Given the description of an element on the screen output the (x, y) to click on. 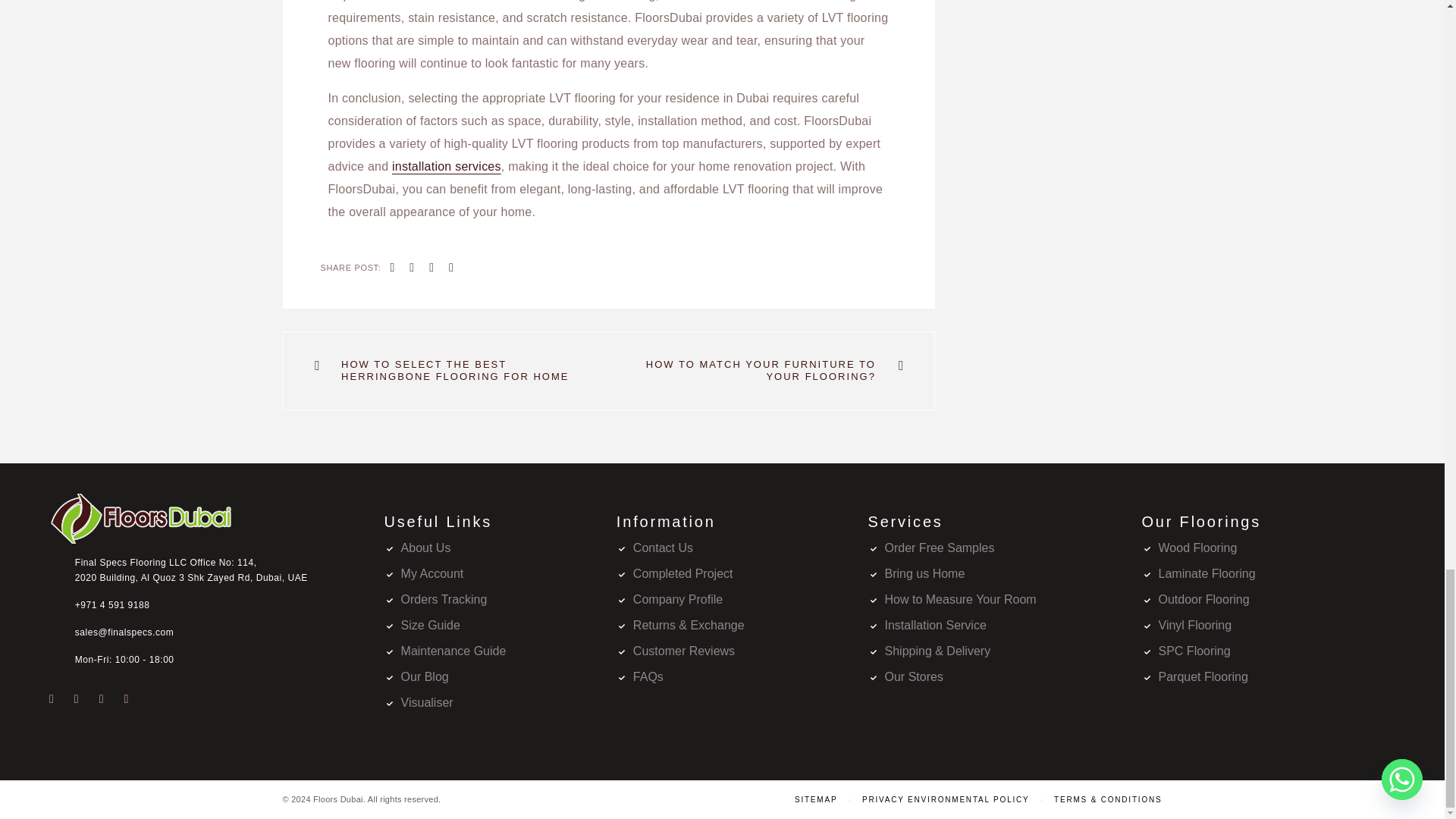
Pin on Pinterest (431, 267)
Share on Whatsapp (451, 267)
Share on Twitter (411, 267)
Share on Facebook (392, 267)
